Given the description of an element on the screen output the (x, y) to click on. 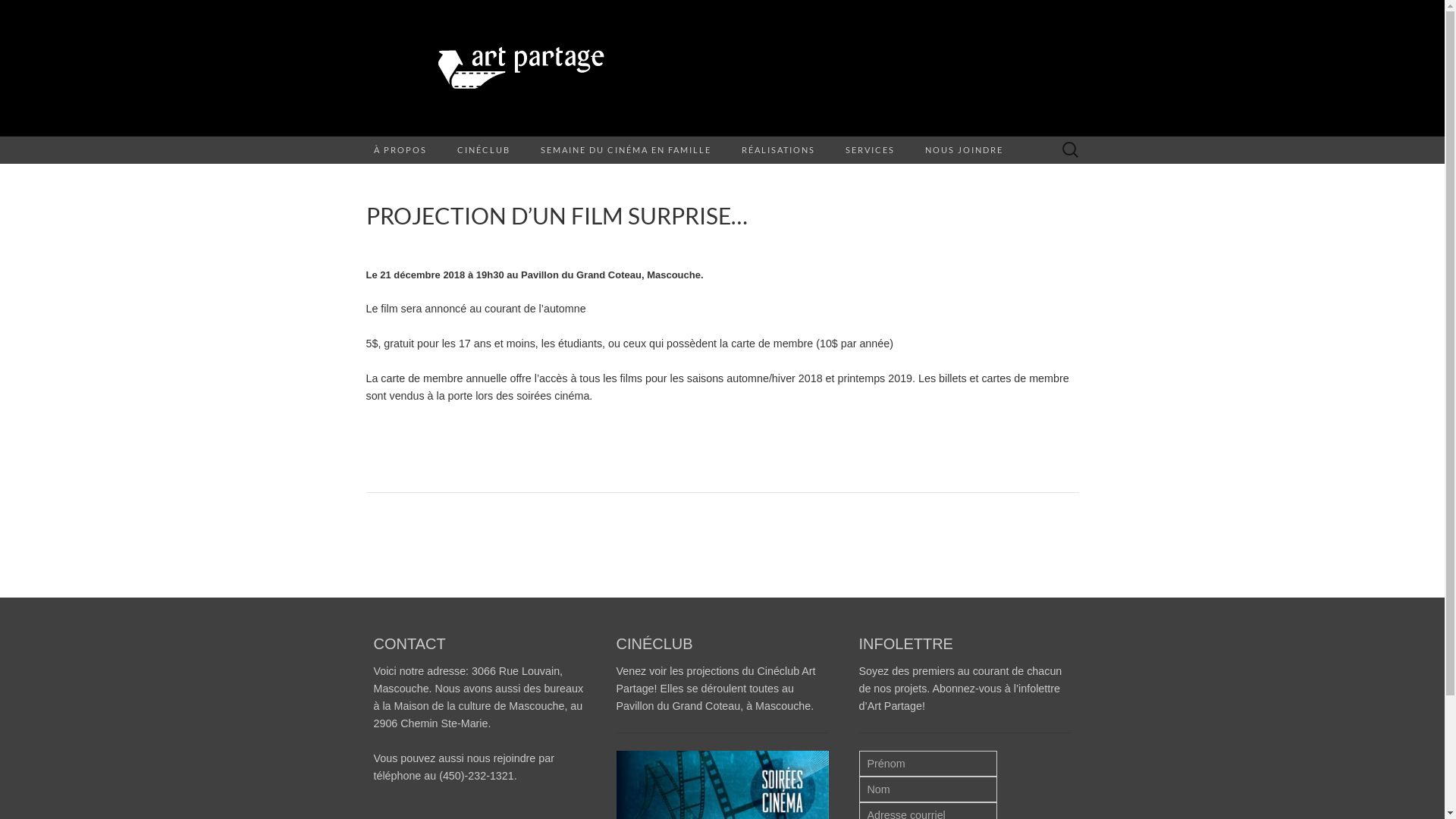
Art Partage Element type: hover (721, 68)
SERVICES Element type: text (869, 149)
Rechercher Element type: text (15, 12)
NOUS JOINDRE Element type: text (964, 149)
